Given the description of an element on the screen output the (x, y) to click on. 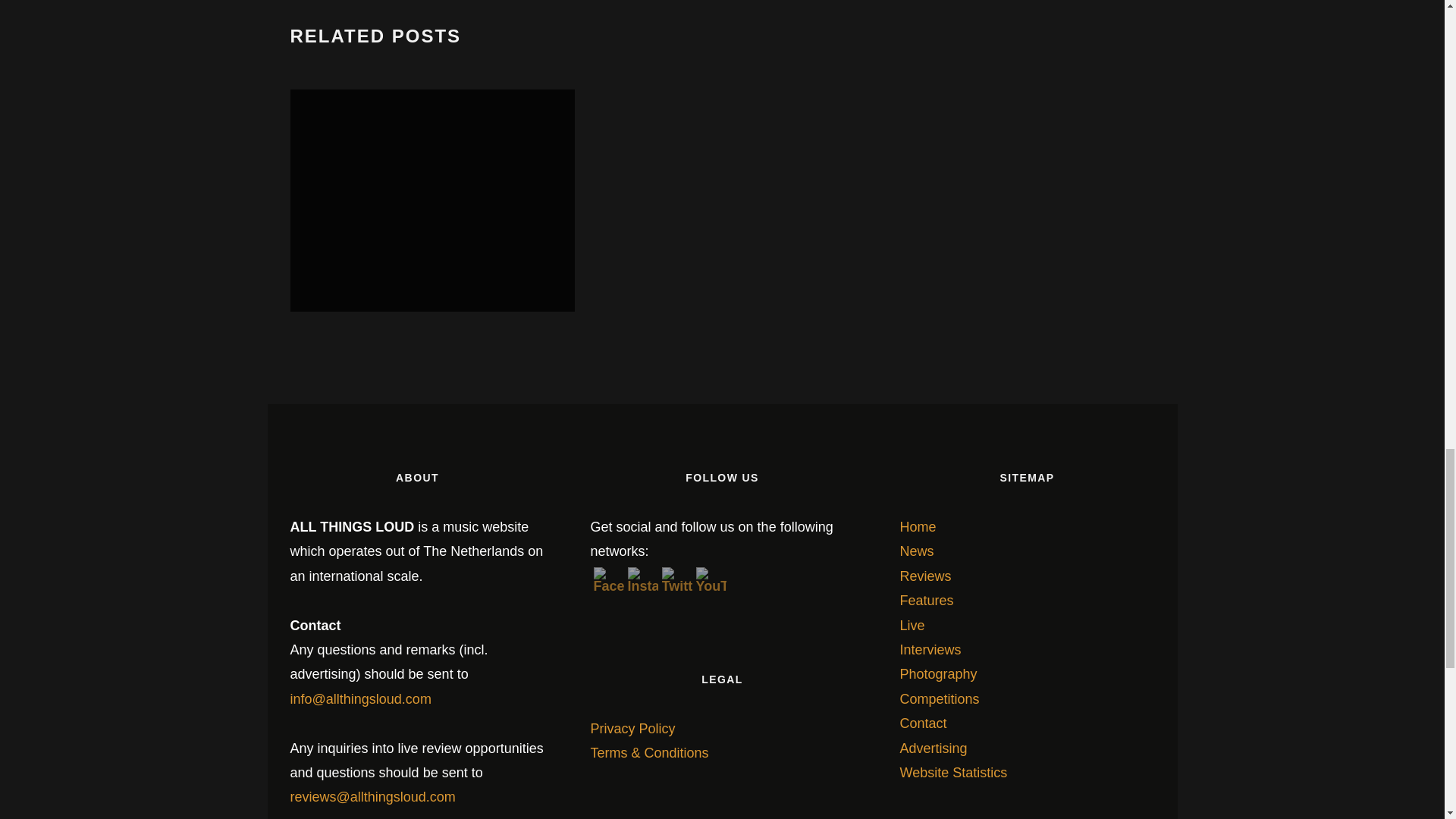
YouTube (710, 579)
Facebook (607, 579)
Instagram (642, 579)
Twitter (676, 579)
